Given the description of an element on the screen output the (x, y) to click on. 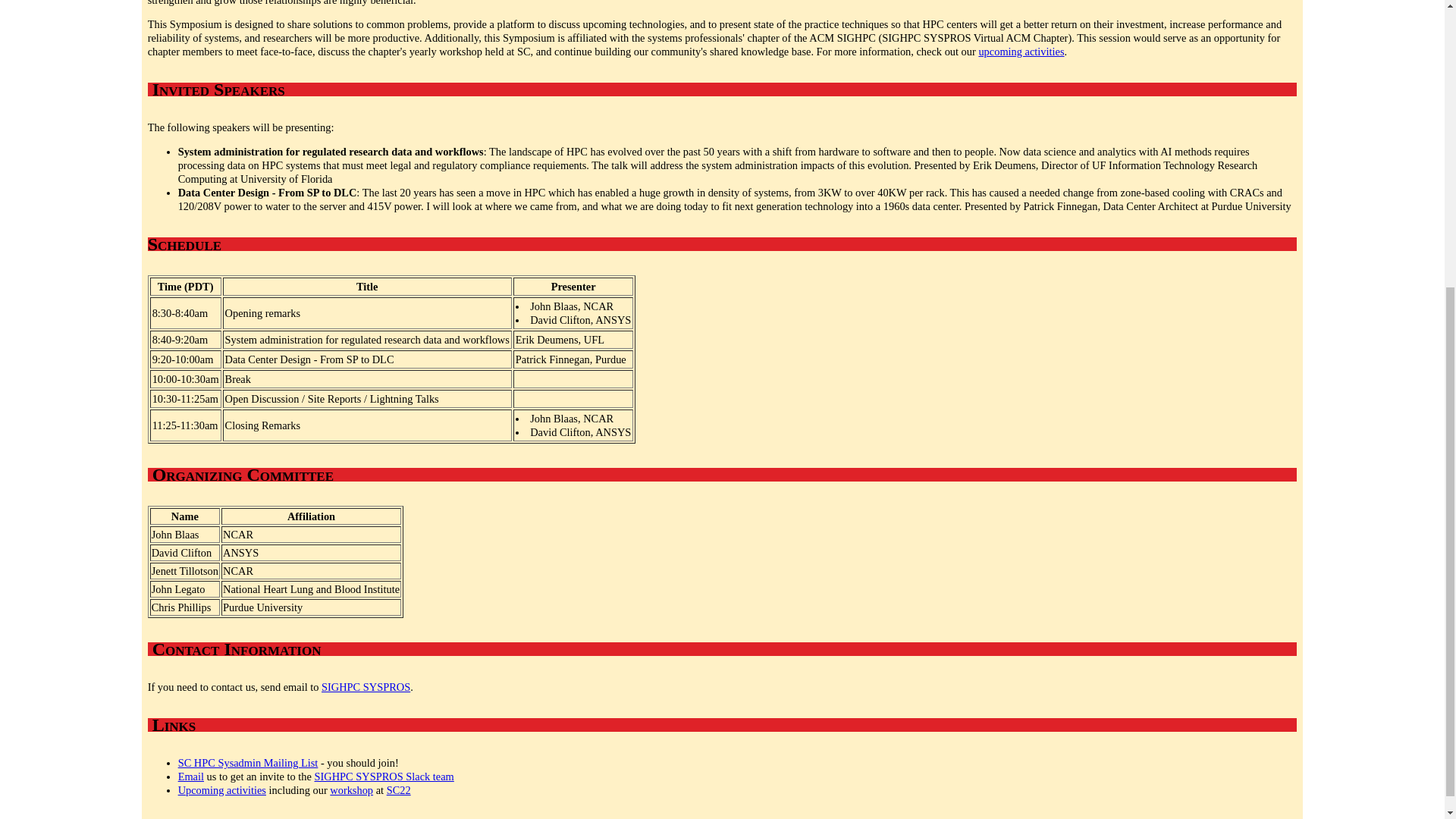
SIGHPC SYSPROS (365, 686)
Email (190, 776)
SC22 (398, 789)
upcoming activities (1021, 51)
SIGHPC SYSPROS Slack team (383, 776)
Upcoming activities (221, 789)
workshop (351, 789)
SC HPC Sysadmin Mailing List (247, 762)
